Given the description of an element on the screen output the (x, y) to click on. 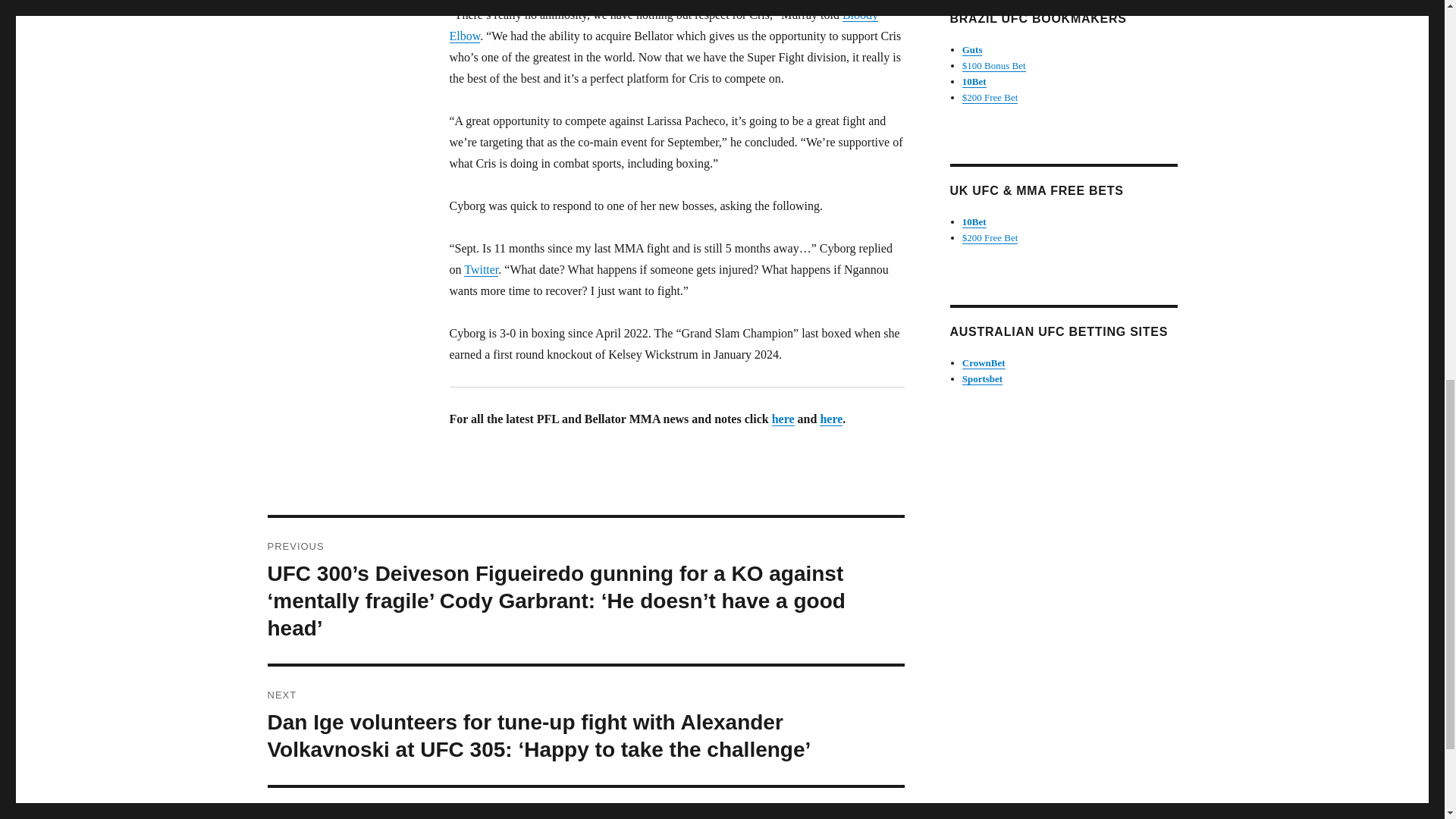
10Bet (974, 81)
10Bet (974, 221)
here (782, 418)
here (831, 418)
Twitter (480, 269)
Sportsbet (982, 378)
CrownBet (984, 362)
Guts (972, 49)
Bloody Elbow (662, 25)
